Given the description of an element on the screen output the (x, y) to click on. 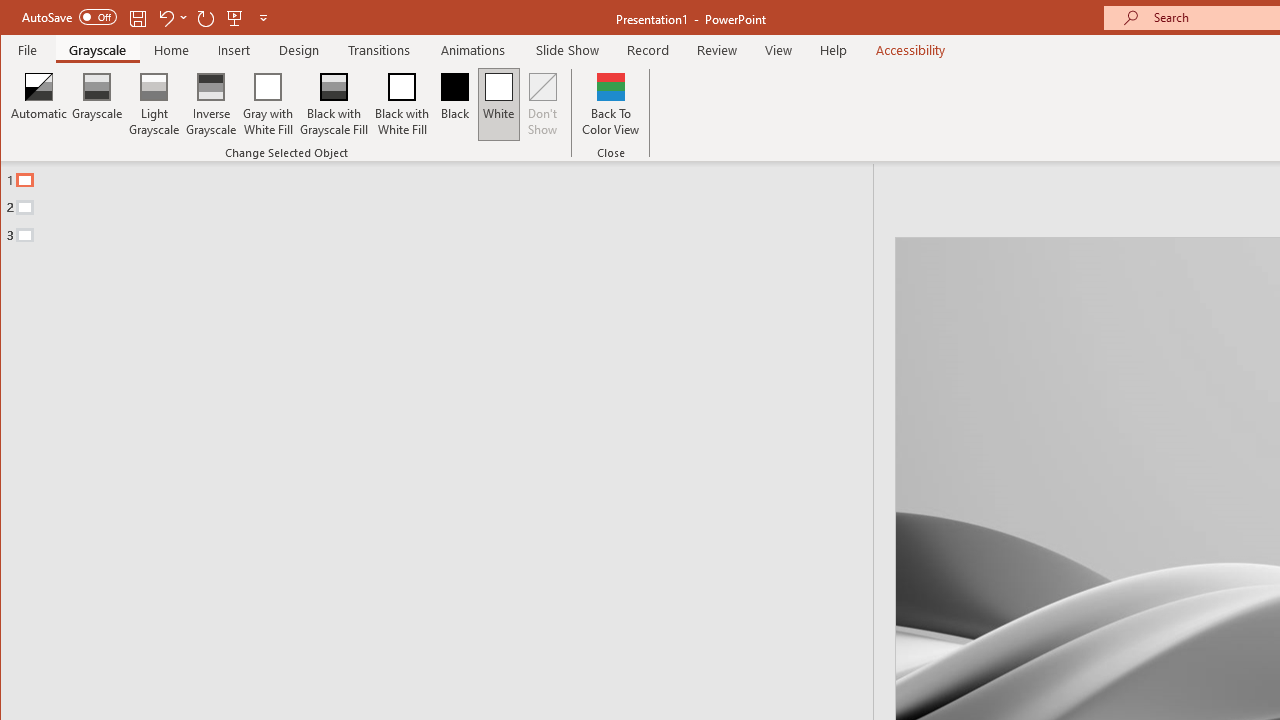
Black with Grayscale Fill (334, 104)
